Given the description of an element on the screen output the (x, y) to click on. 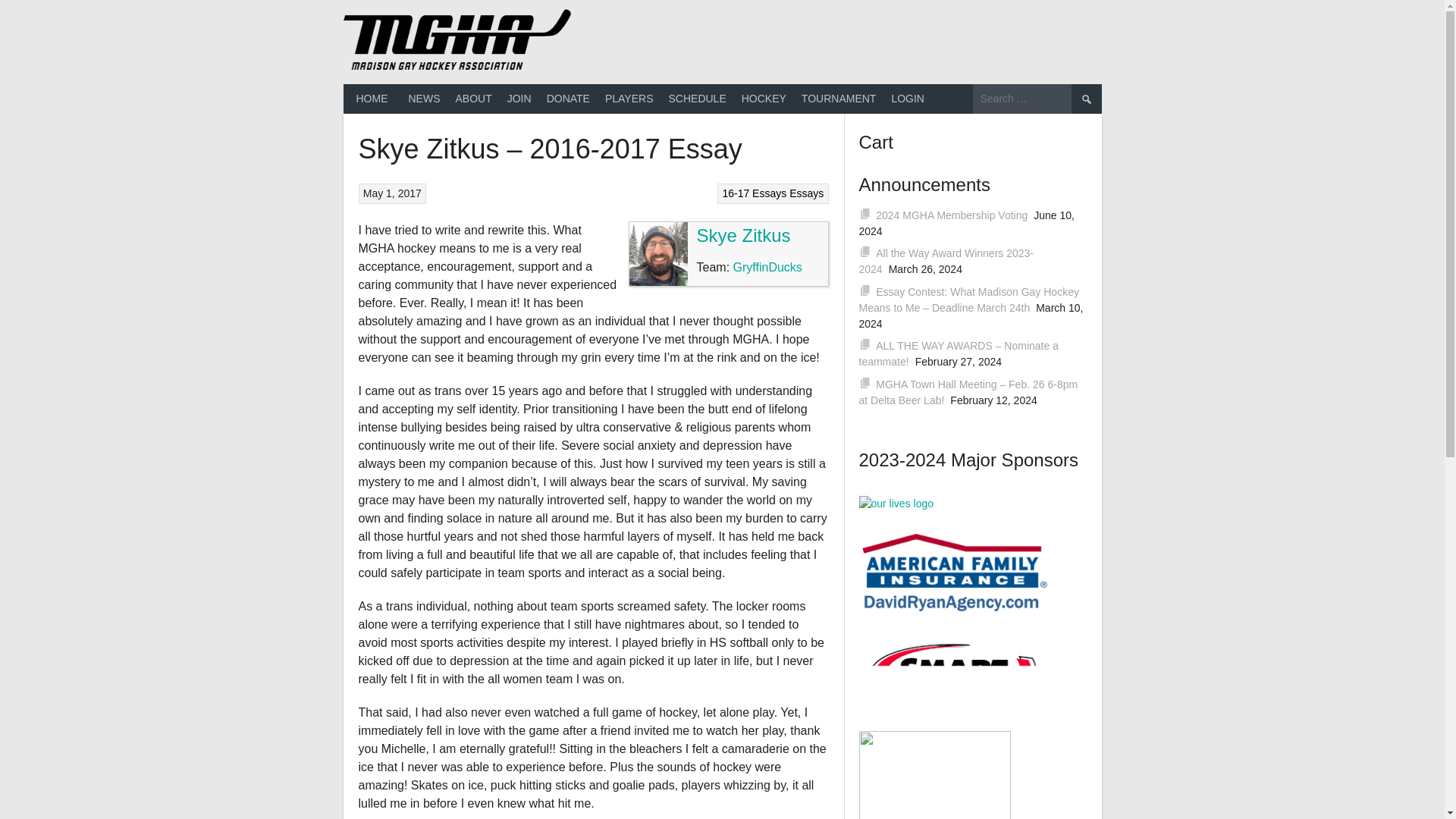
TOURNAMENT (838, 98)
PLAYERS (628, 98)
SCHEDULE (697, 98)
ABOUT (472, 98)
16-17 Essays (754, 193)
HOCKEY (763, 98)
DONATE (567, 98)
JOIN (518, 98)
LOGIN (907, 98)
Essays (806, 193)
Search (1085, 98)
NEWS (423, 98)
HOME (371, 98)
